Given the description of an element on the screen output the (x, y) to click on. 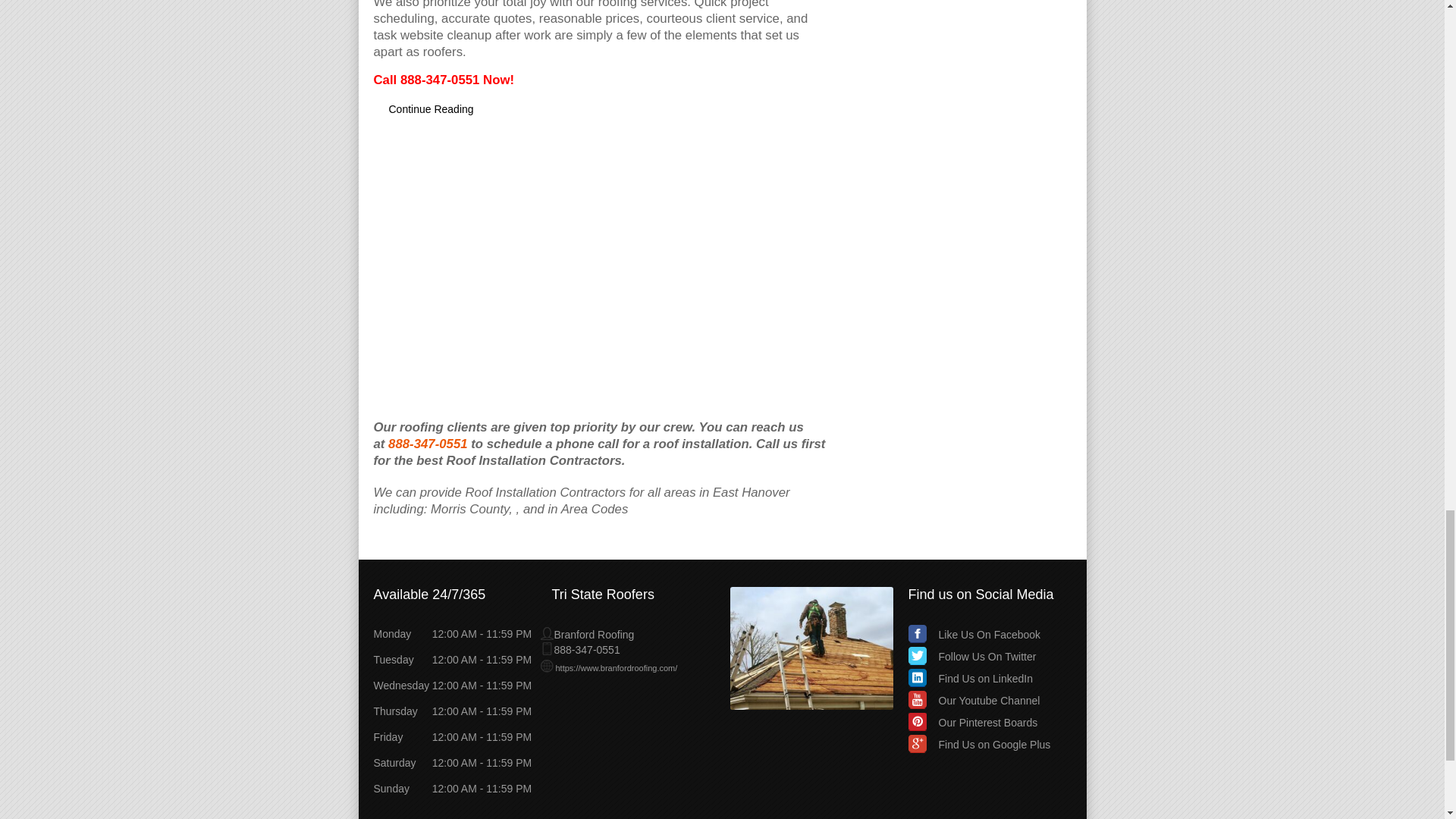
888-347-0551 (427, 443)
Call 888-347-0551 Now! (442, 79)
Continue Reading (429, 108)
